Given the description of an element on the screen output the (x, y) to click on. 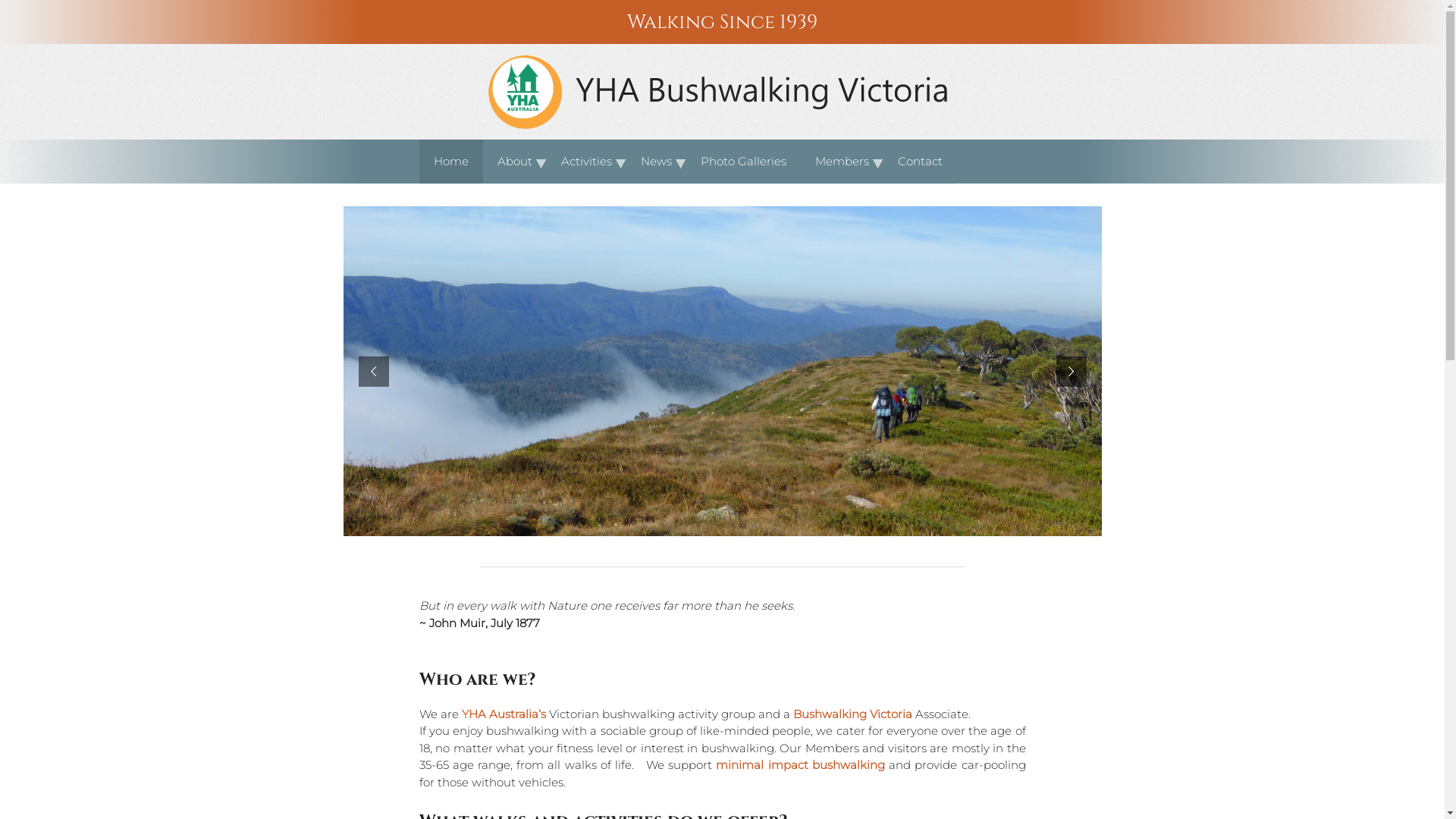
Activities Element type: text (585, 161)
Contact Element type: text (919, 161)
Bushwalking Victoria Element type: text (852, 713)
About Element type: text (514, 161)
News Element type: text (656, 161)
minimal impact bushwalking Element type: text (799, 764)
Photo Galleries Element type: text (742, 161)
Members Element type: text (841, 161)
Home Element type: text (450, 161)
